Given the description of an element on the screen output the (x, y) to click on. 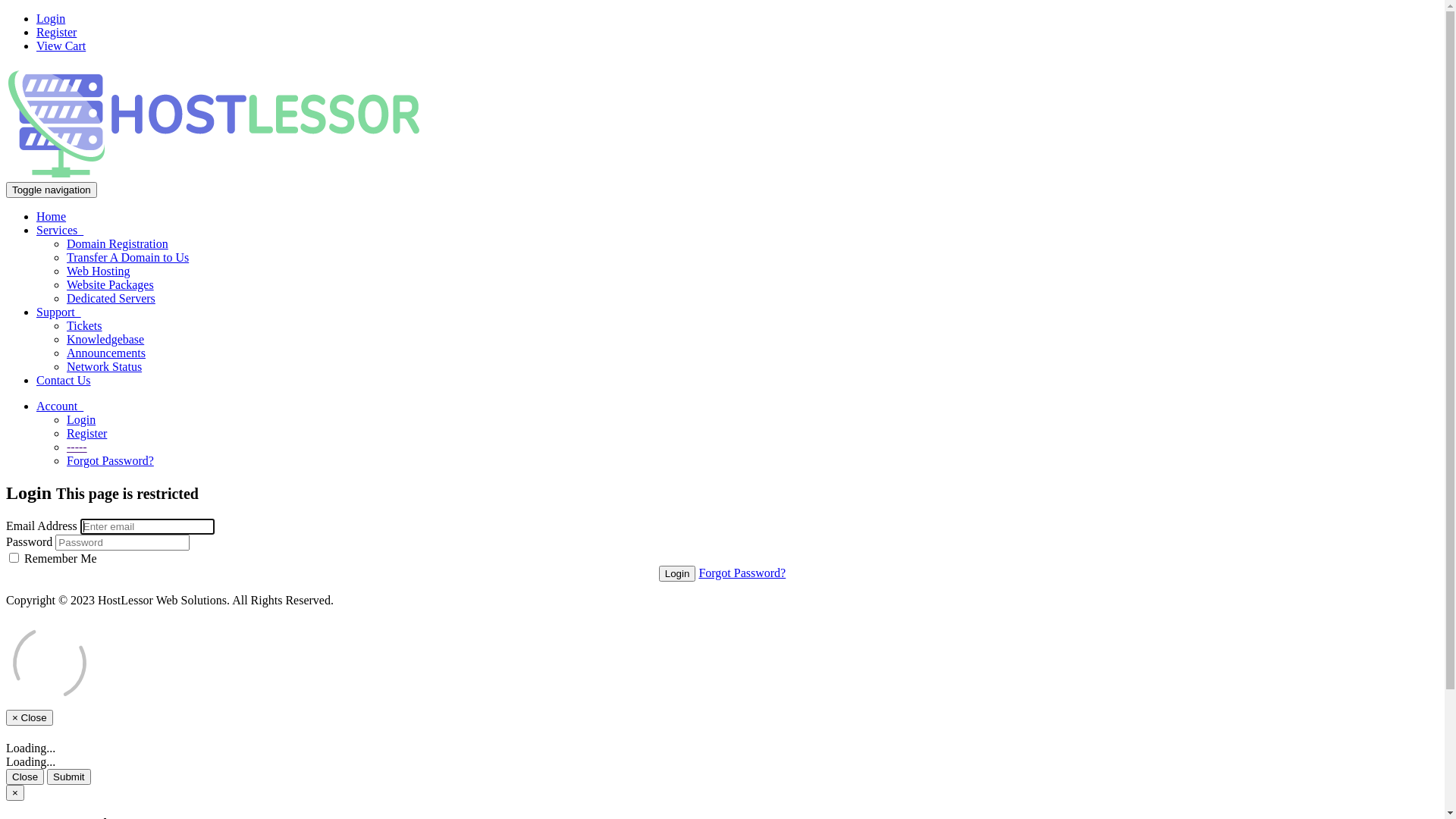
Login Element type: text (677, 573)
Network Status Element type: text (103, 366)
Domain Registration Element type: text (117, 243)
Account   Element type: text (59, 405)
Submit Element type: text (68, 776)
Register Element type: text (86, 432)
Transfer A Domain to Us Element type: text (127, 257)
Forgot Password? Element type: text (109, 460)
Website Packages Element type: text (109, 284)
Forgot Password? Element type: text (741, 572)
Login Element type: text (80, 419)
Web Hosting Element type: text (98, 270)
Announcements Element type: text (105, 352)
Toggle navigation Element type: text (51, 189)
----- Element type: text (76, 446)
Register Element type: text (56, 31)
View Cart Element type: text (60, 45)
Home Element type: text (50, 216)
Close Element type: text (24, 776)
Support   Element type: text (58, 311)
Contact Us Element type: text (63, 379)
Tickets Element type: text (84, 325)
Knowledgebase Element type: text (105, 338)
Services   Element type: text (59, 229)
Login Element type: text (50, 18)
Dedicated Servers Element type: text (110, 297)
